Given the description of an element on the screen output the (x, y) to click on. 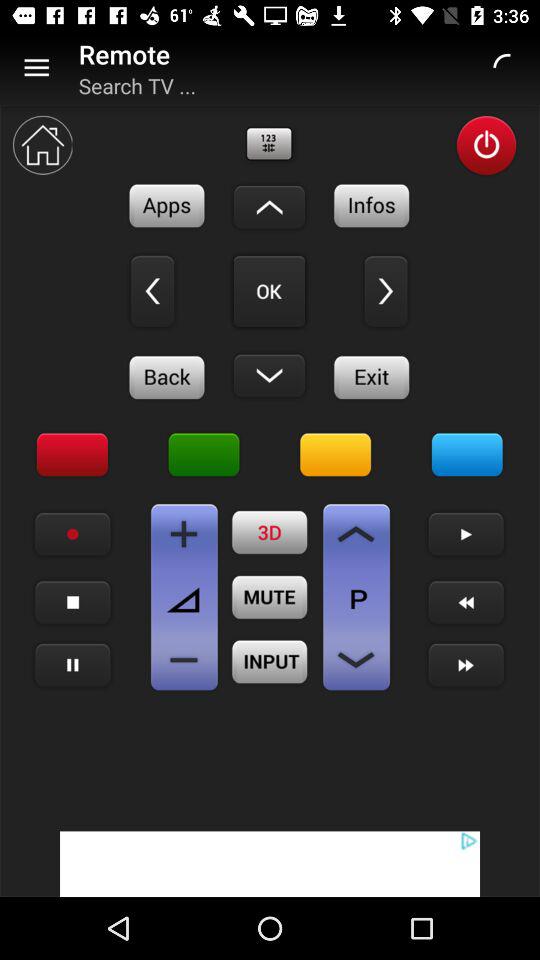
increase volume (183, 534)
